Given the description of an element on the screen output the (x, y) to click on. 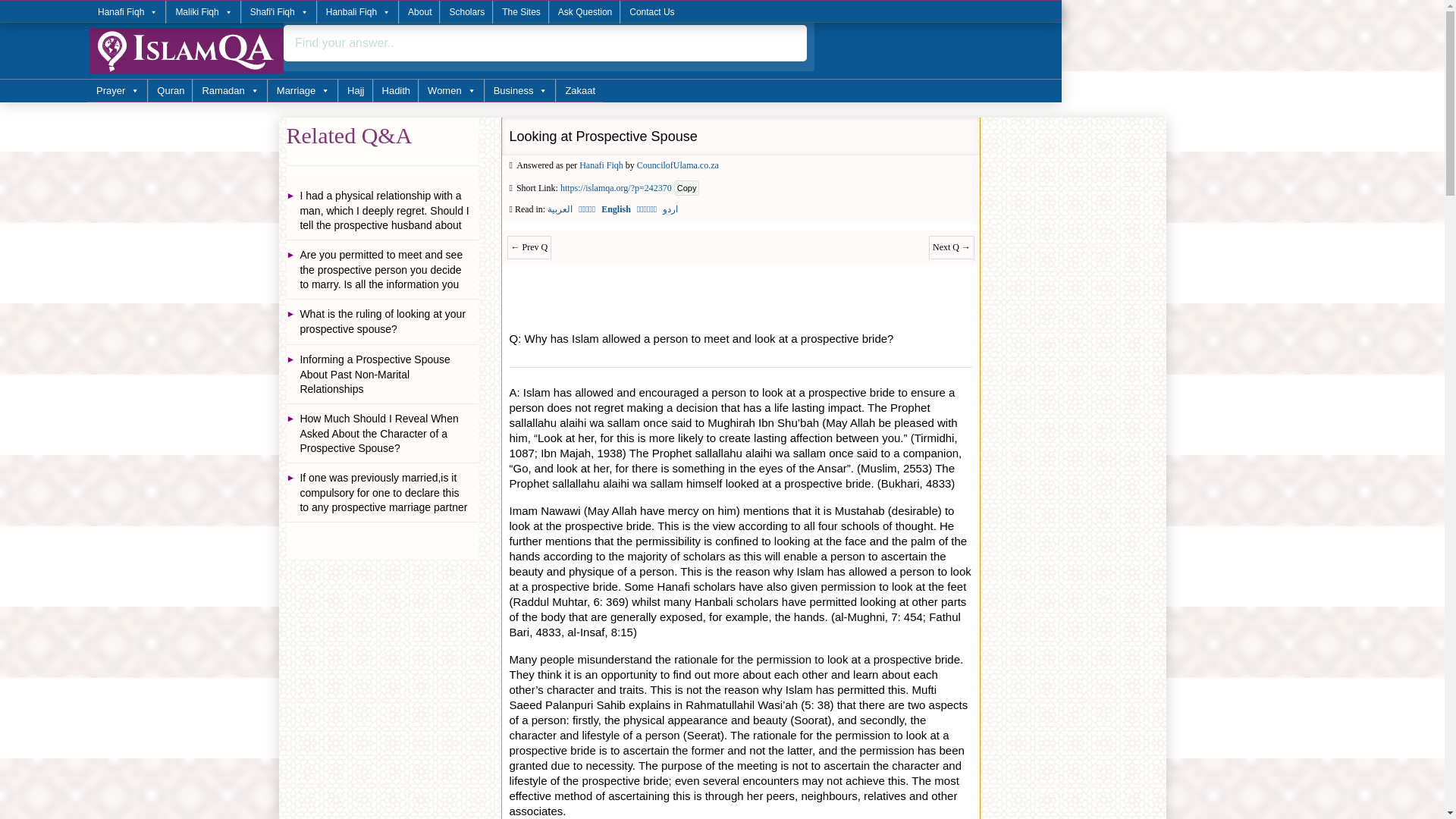
Hanafi Fiqh (126, 11)
Maliki Fiqh (202, 11)
